Given the description of an element on the screen output the (x, y) to click on. 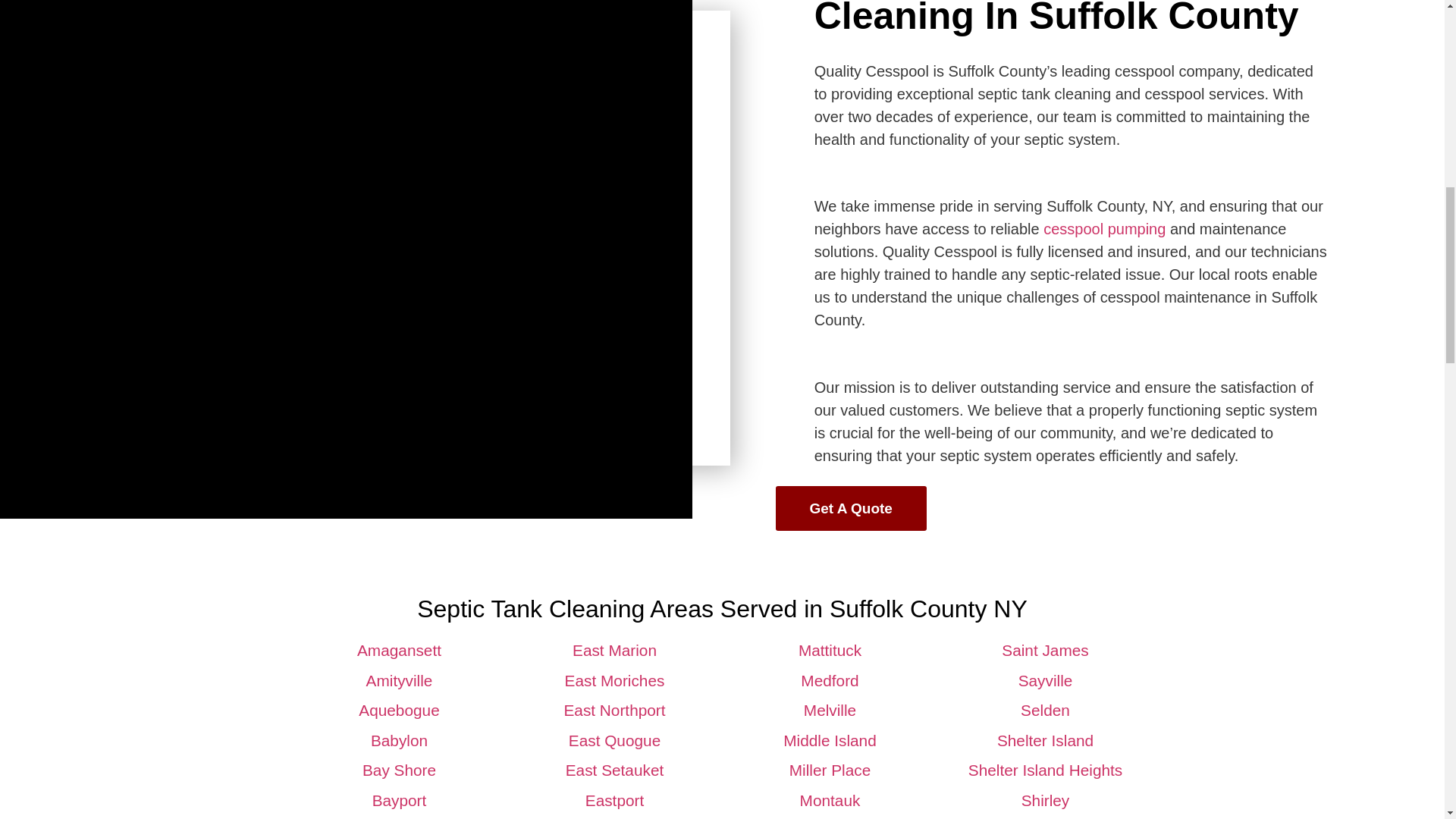
cesspool pumping (1104, 228)
Amityville (399, 680)
Cesspool Pumping (1104, 228)
Amagansett (398, 650)
Get A Quote (850, 508)
Aquebogue (398, 710)
